Given the description of an element on the screen output the (x, y) to click on. 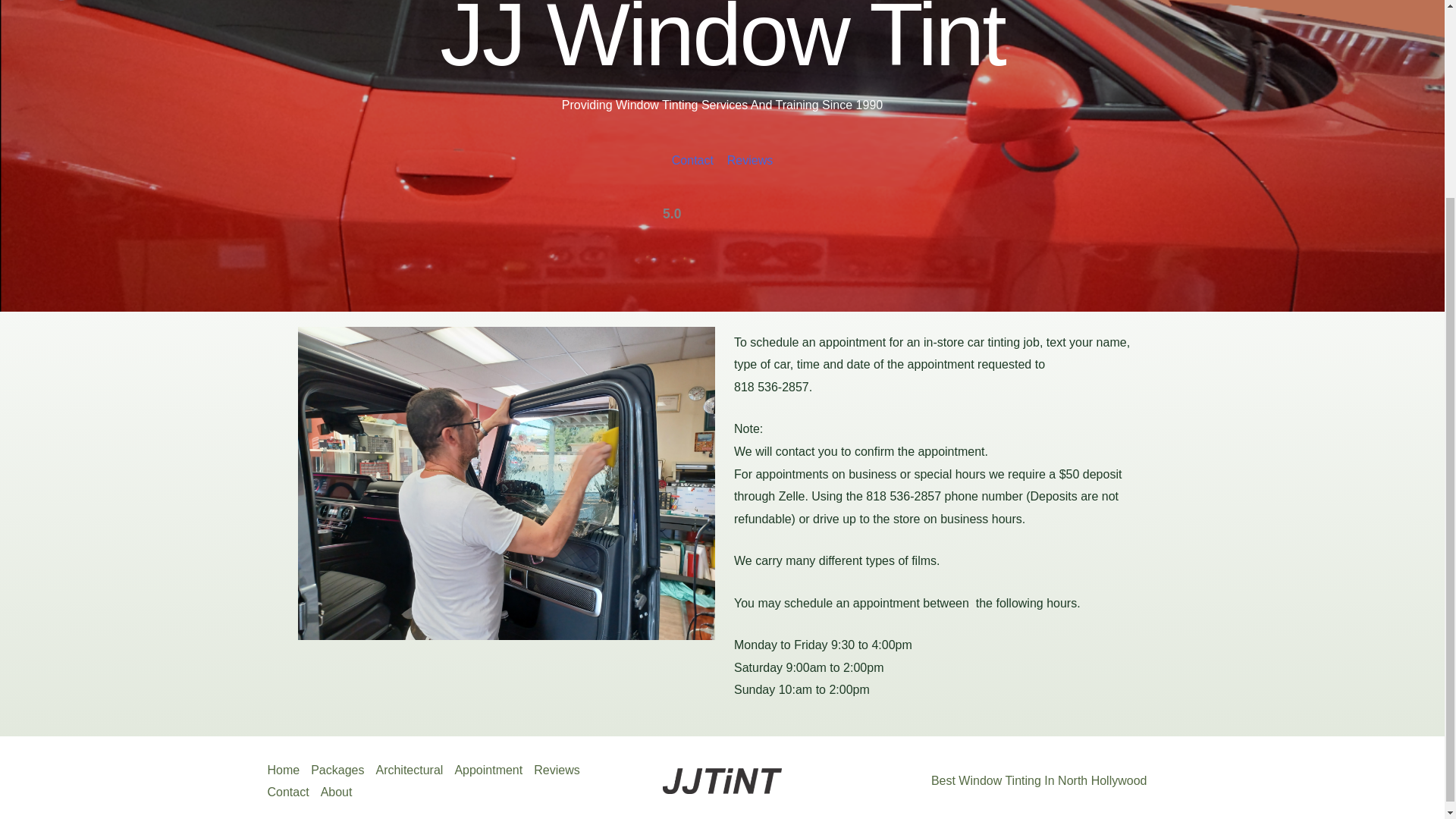
Appointment (494, 770)
Home (288, 770)
Reviews (749, 160)
Contact (293, 792)
About (342, 792)
Contact (692, 160)
Reviews (562, 770)
Architectural (414, 770)
Packages (343, 770)
